Given the description of an element on the screen output the (x, y) to click on. 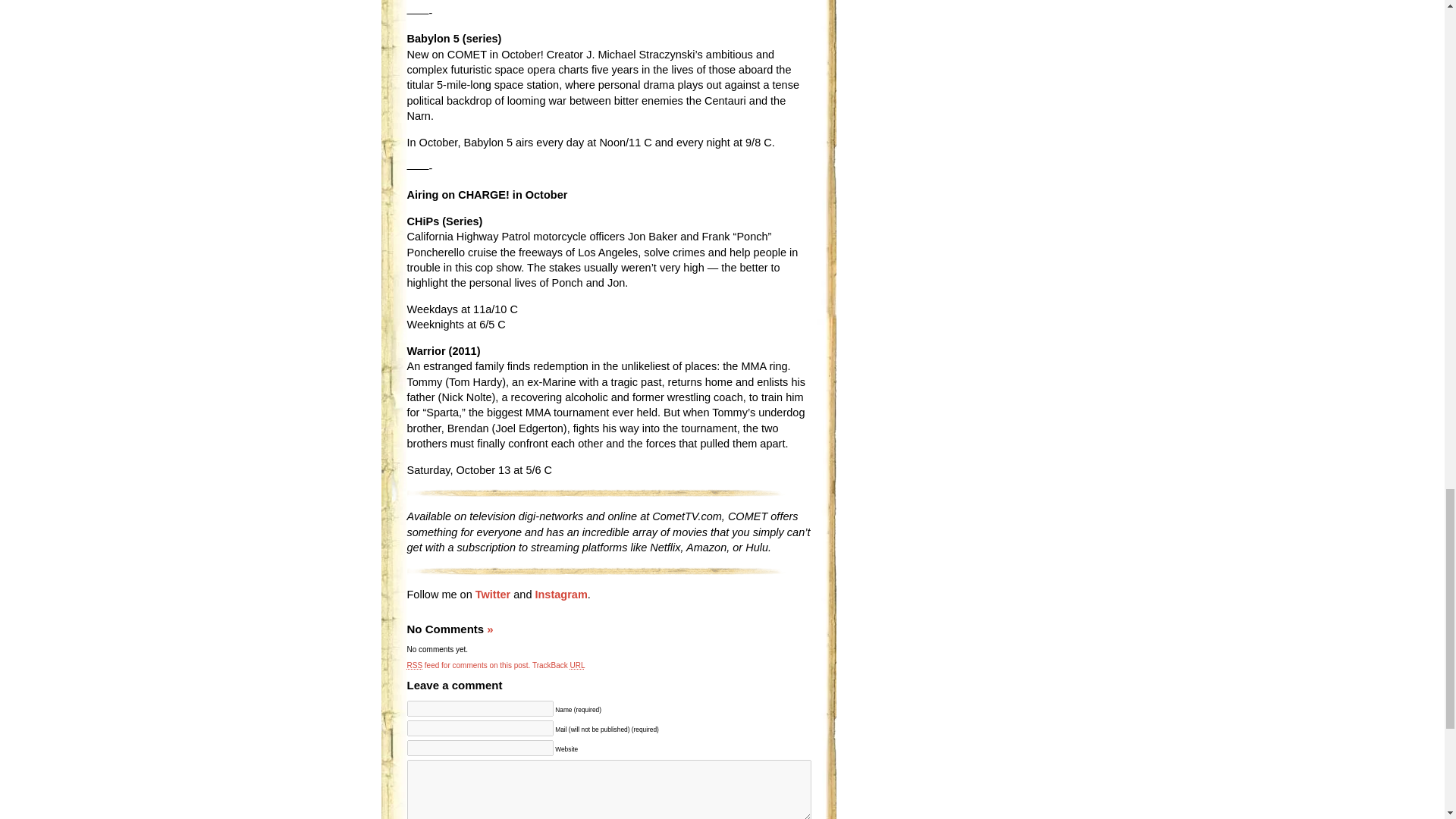
TrackBack URL (558, 664)
Twitter (493, 594)
Instagram (560, 594)
RSS feed for comments on this post. (467, 664)
Universal Resource Locator (577, 664)
Really Simple Syndication (414, 664)
